Given the description of an element on the screen output the (x, y) to click on. 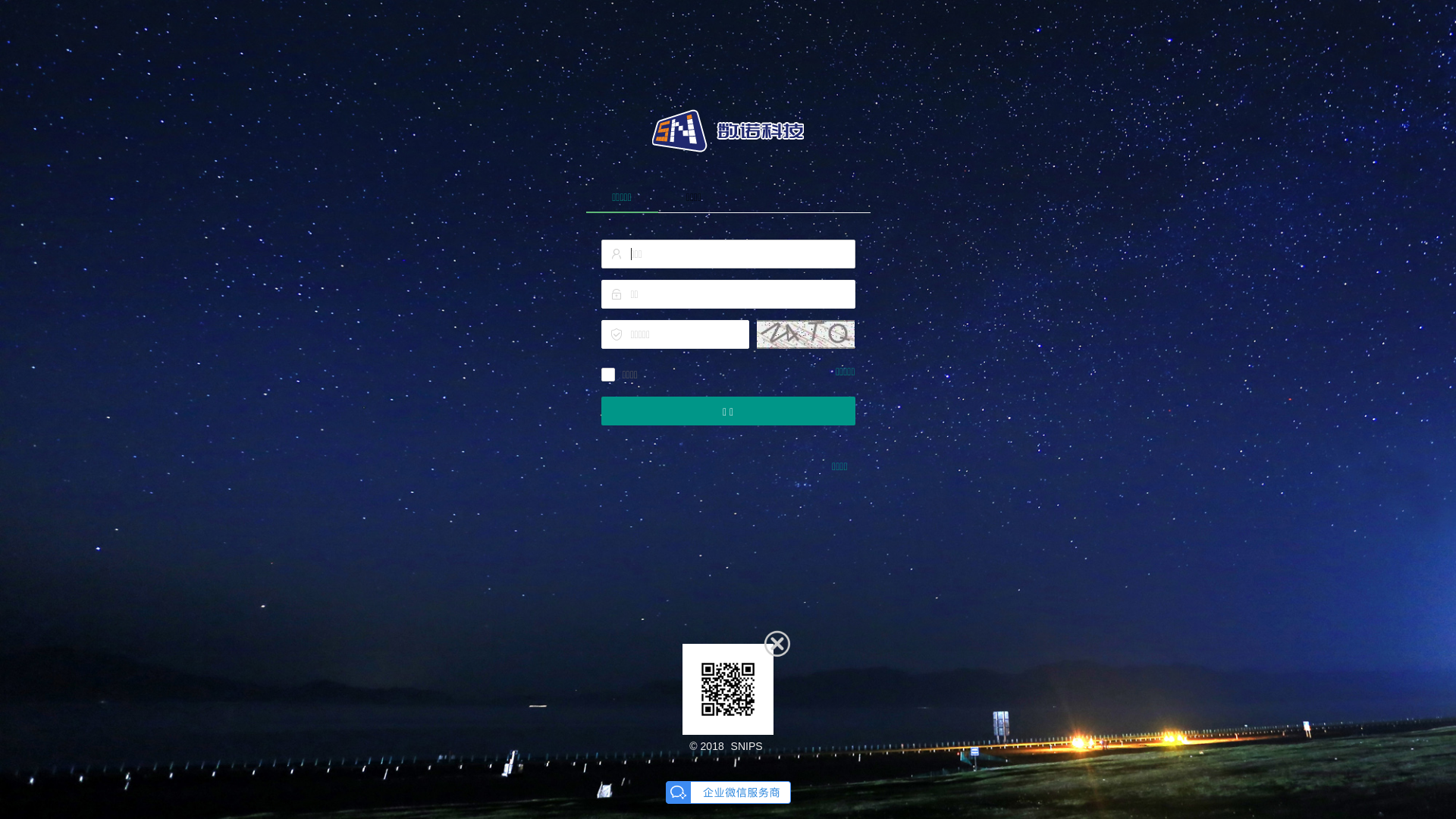
SNIPS Element type: text (746, 746)
